Given the description of an element on the screen output the (x, y) to click on. 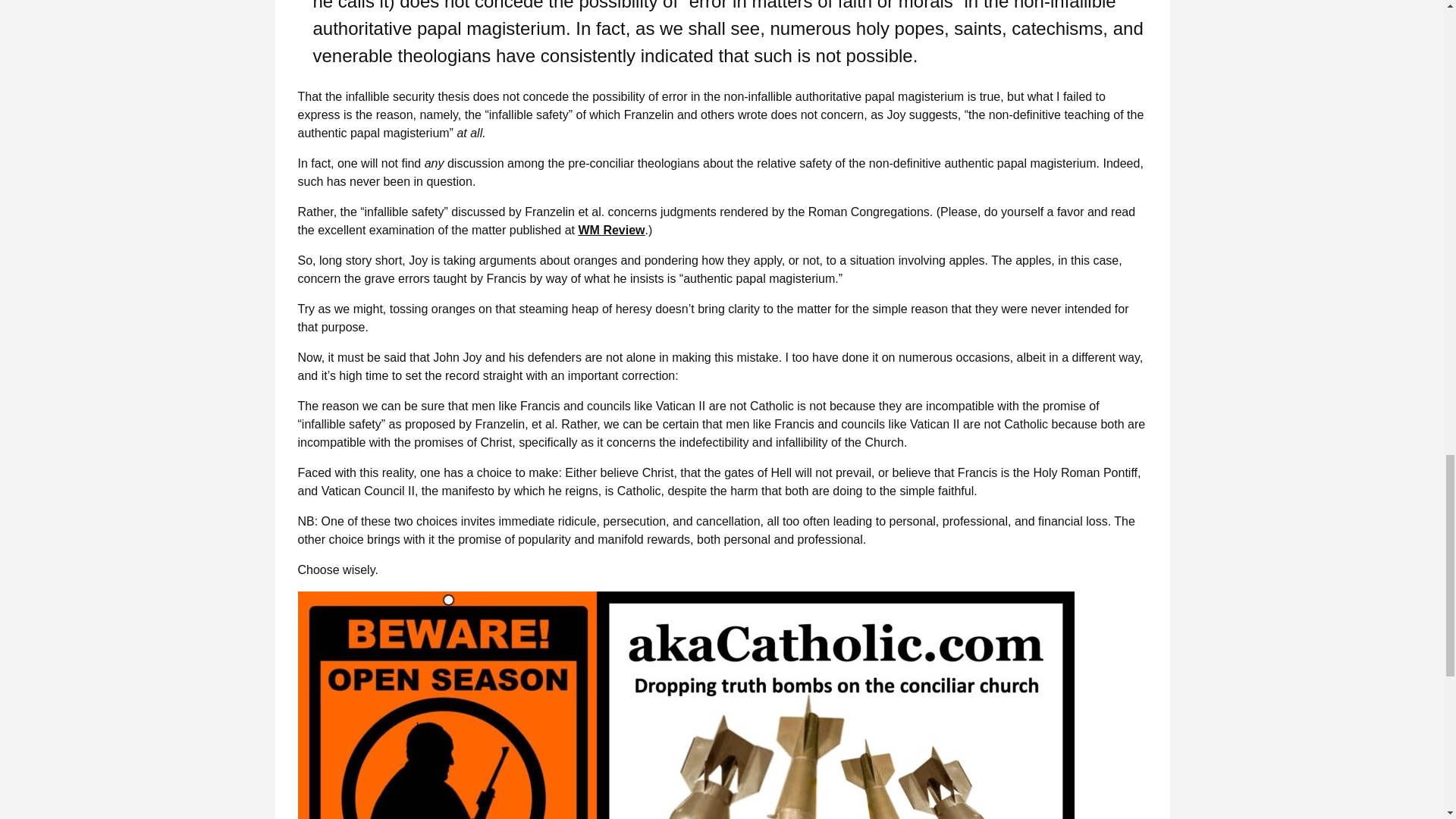
WM Review (611, 229)
